Given the description of an element on the screen output the (x, y) to click on. 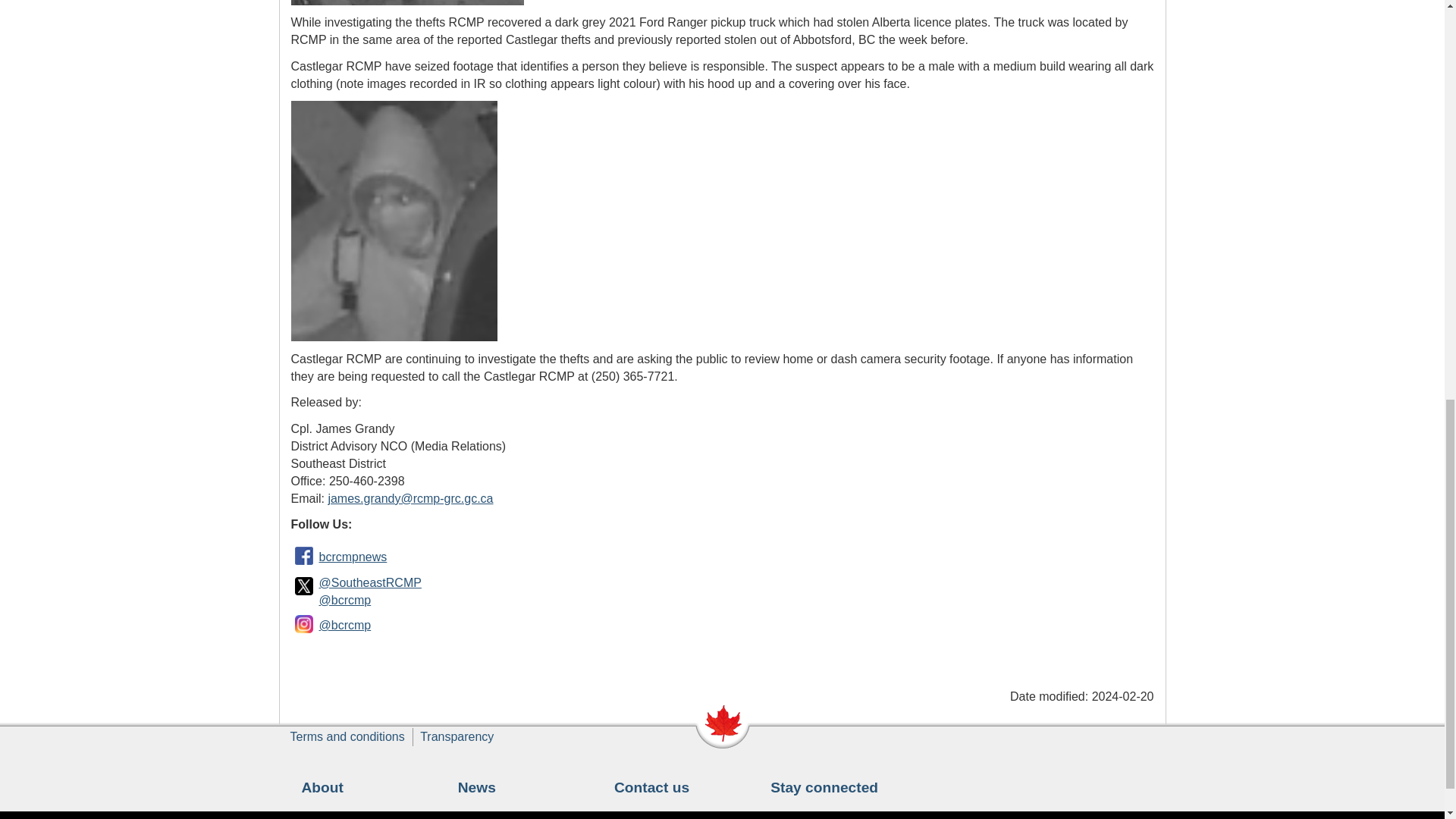
News (477, 787)
bcrcmpnews (352, 556)
Stay connected (823, 787)
Twitter (304, 586)
Instagram (304, 624)
Transparency (456, 736)
Facebook (304, 556)
Contact us (651, 787)
About (322, 787)
Terms and conditions (346, 736)
